Given the description of an element on the screen output the (x, y) to click on. 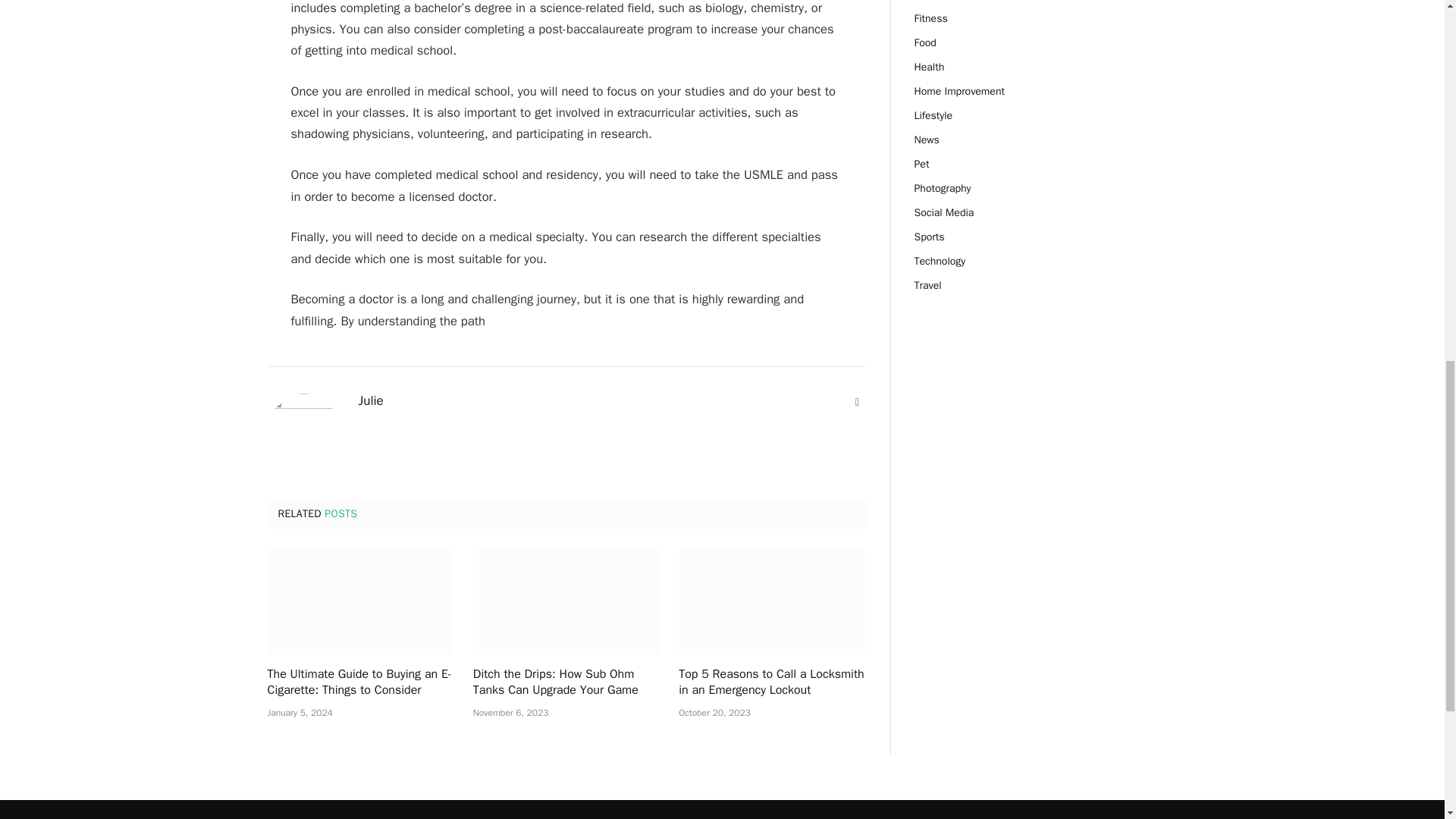
Julie (370, 400)
Website (856, 402)
Top 5 Reasons to Call a Locksmith in an Emergency Lockout (771, 601)
Ditch the Drips: How Sub Ohm Tanks Can Upgrade Your Game (566, 683)
Top 5 Reasons to Call a Locksmith in an Emergency Lockout (771, 683)
Ditch the Drips: How Sub Ohm Tanks Can Upgrade Your Game (566, 601)
Website (856, 402)
Posts by Julie (370, 400)
